Given the description of an element on the screen output the (x, y) to click on. 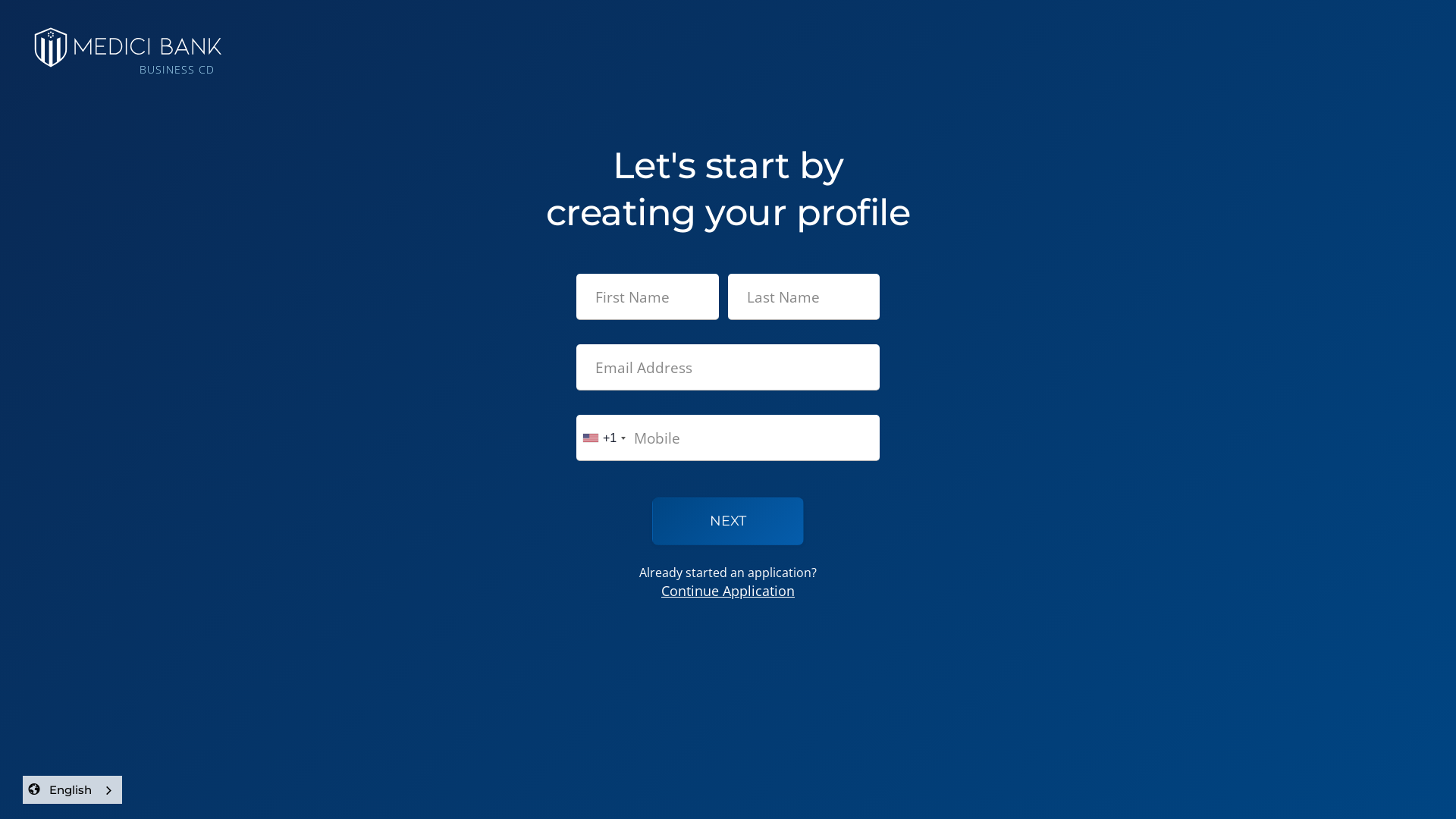
Continue Application Element type: text (727, 590)
English Element type: text (81, 789)
NEXT Element type: text (727, 521)
